Given the description of an element on the screen output the (x, y) to click on. 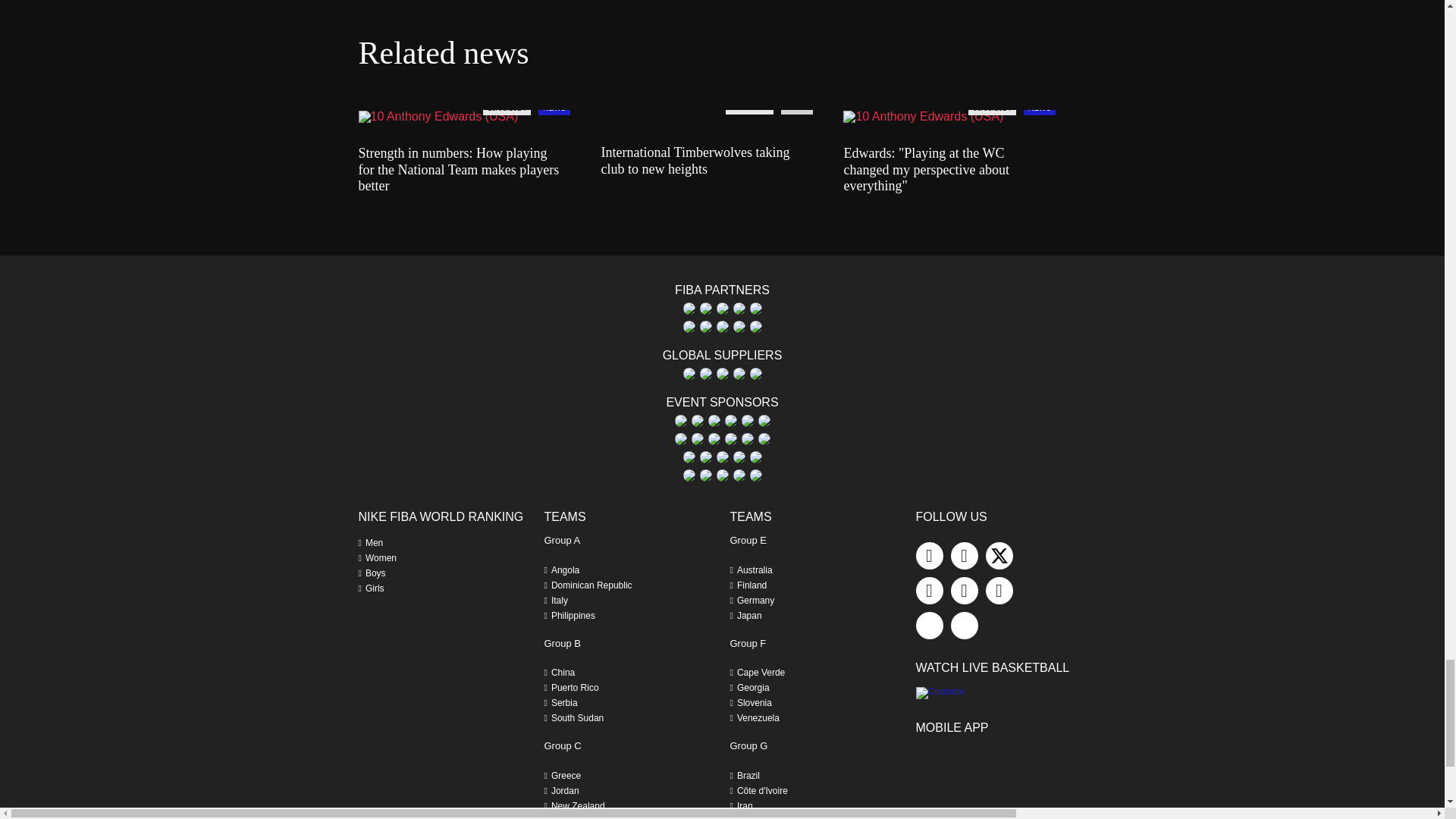
Molten BG5000 Special Website (722, 308)
Nike (738, 308)
Tissot (722, 326)
Ganten (688, 308)
TCL (688, 326)
Yili (755, 326)
Smart (755, 308)
j9.com (704, 308)
Wanda Group (738, 326)
